Given the description of an element on the screen output the (x, y) to click on. 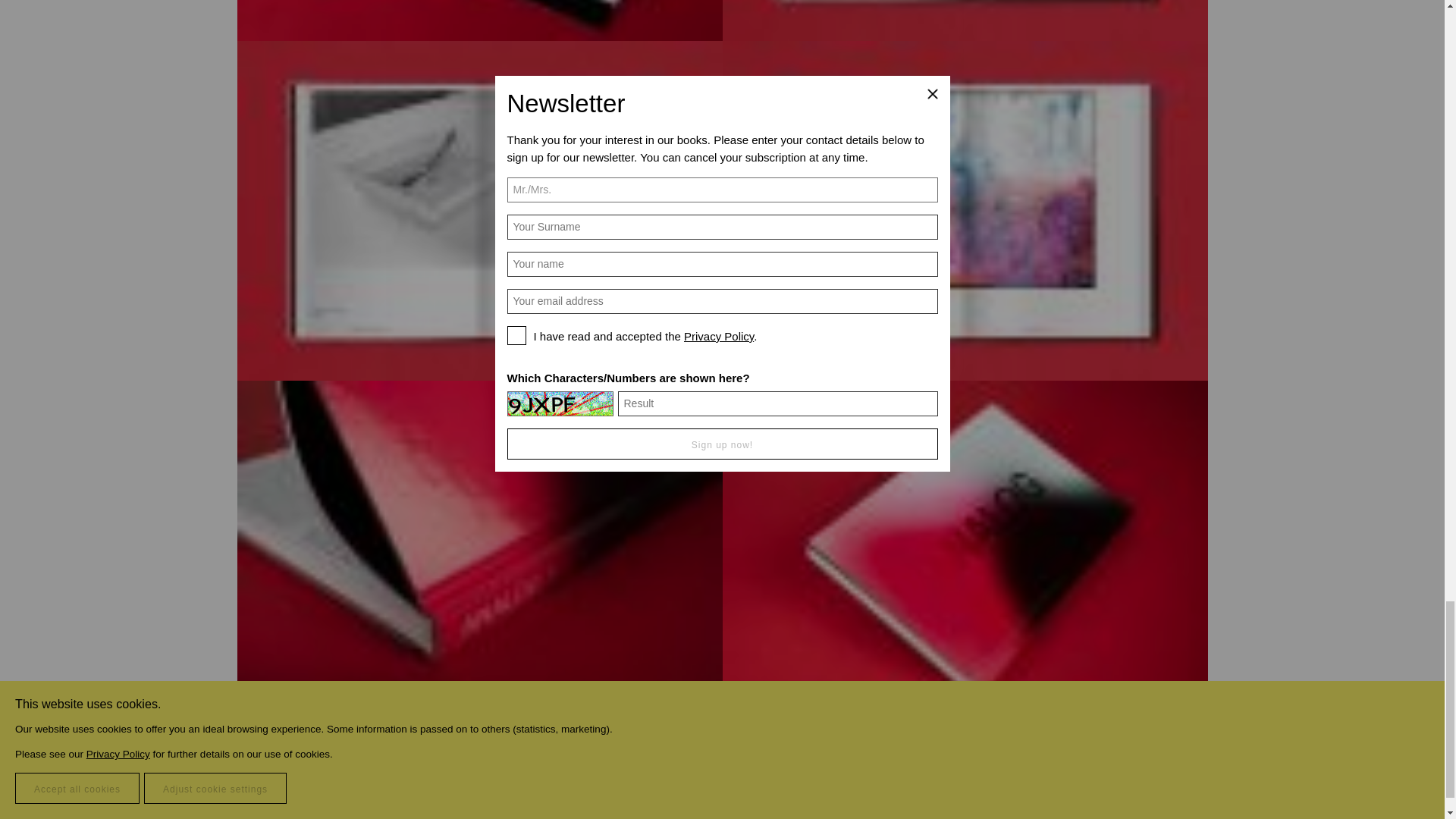
Add to Cart! (964, 750)
Startseite (1154, 818)
